Given the description of an element on the screen output the (x, y) to click on. 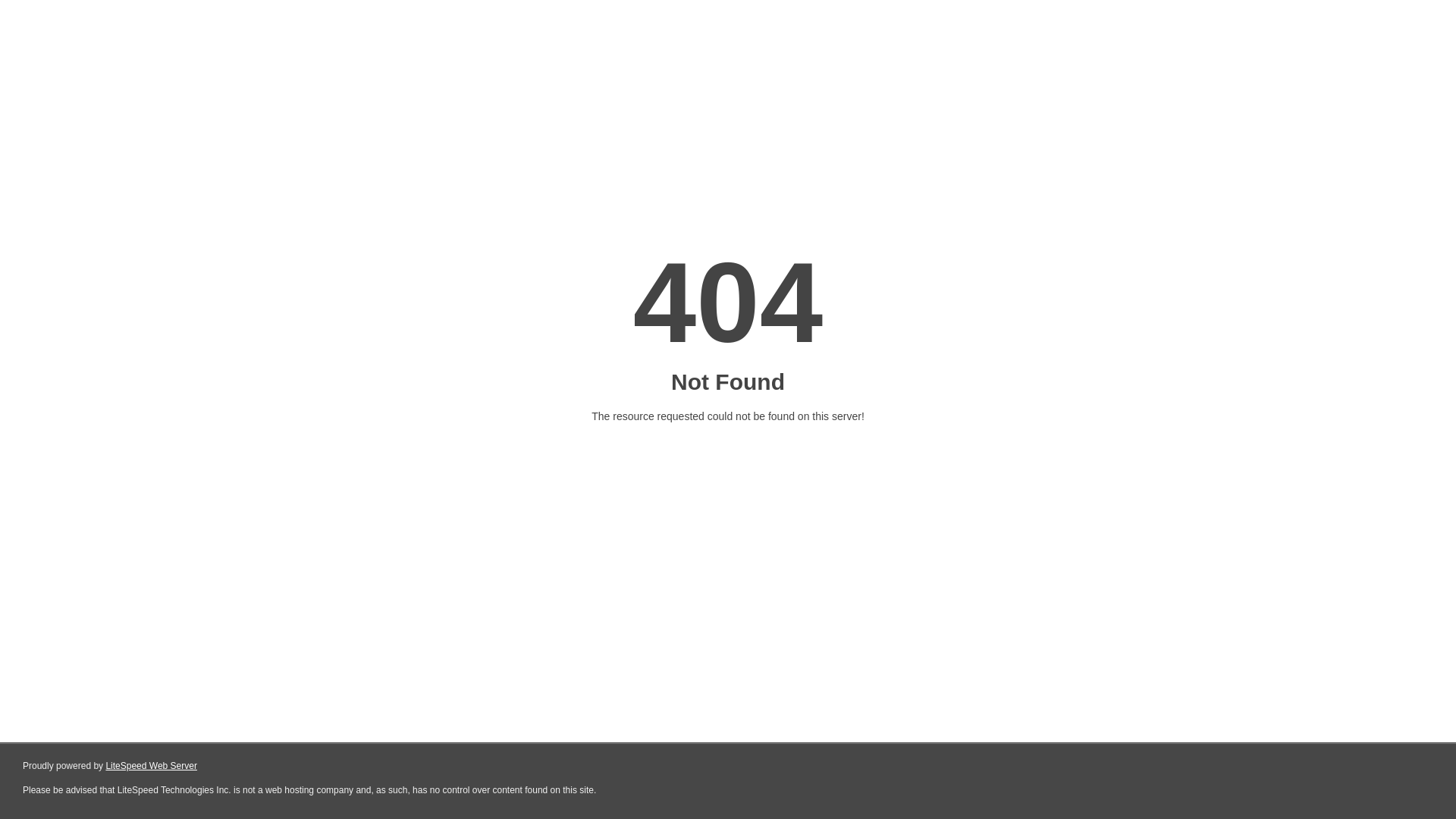
LiteSpeed Web Server Element type: text (151, 765)
